Given the description of an element on the screen output the (x, y) to click on. 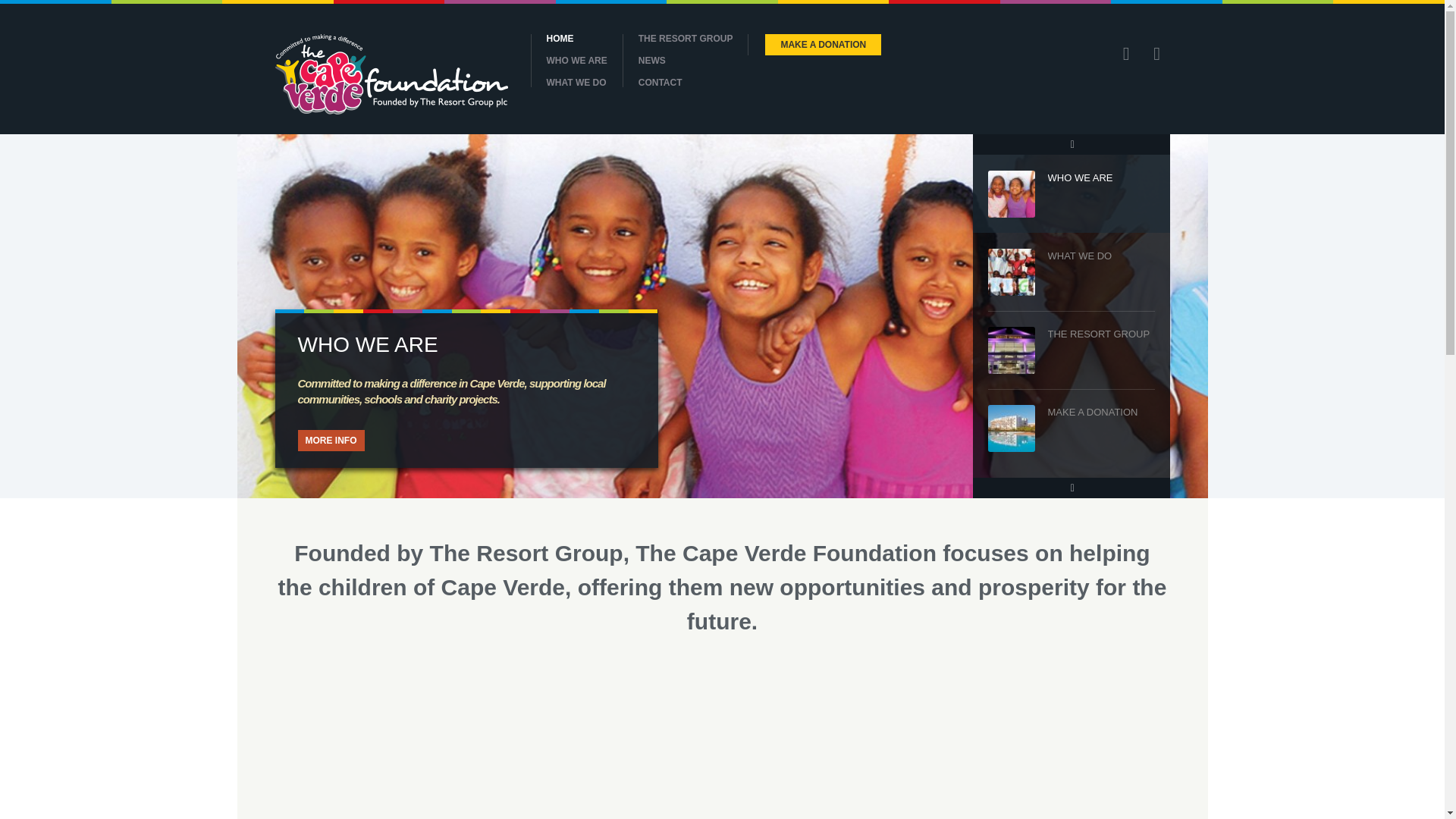
Cape Verde Foundation (390, 74)
WHO WE ARE (576, 60)
MAKE A DONATION (822, 44)
MORE INFO (330, 440)
HOME (576, 38)
CONTACT (686, 81)
NEWS (686, 60)
WHAT WE DO (576, 81)
THE RESORT GROUP (686, 38)
